Given the description of an element on the screen output the (x, y) to click on. 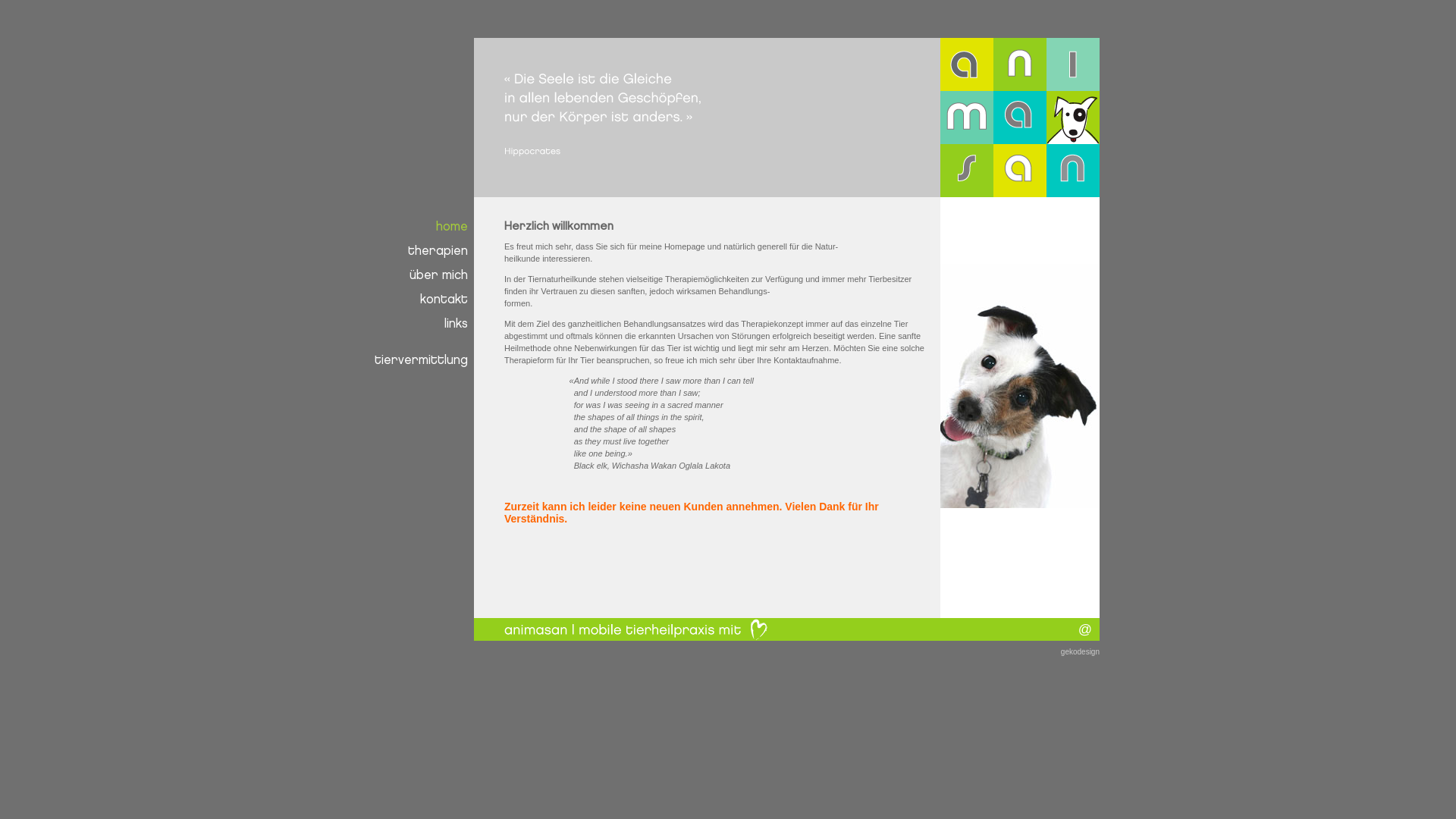
therapien Element type: text (414, 248)
home Element type: text (414, 224)
tiervermittlung Element type: text (414, 357)
kontakt Element type: text (414, 297)
@ Element type: text (1088, 625)
gekodesign Element type: text (1079, 651)
links Element type: text (414, 321)
